Given the description of an element on the screen output the (x, y) to click on. 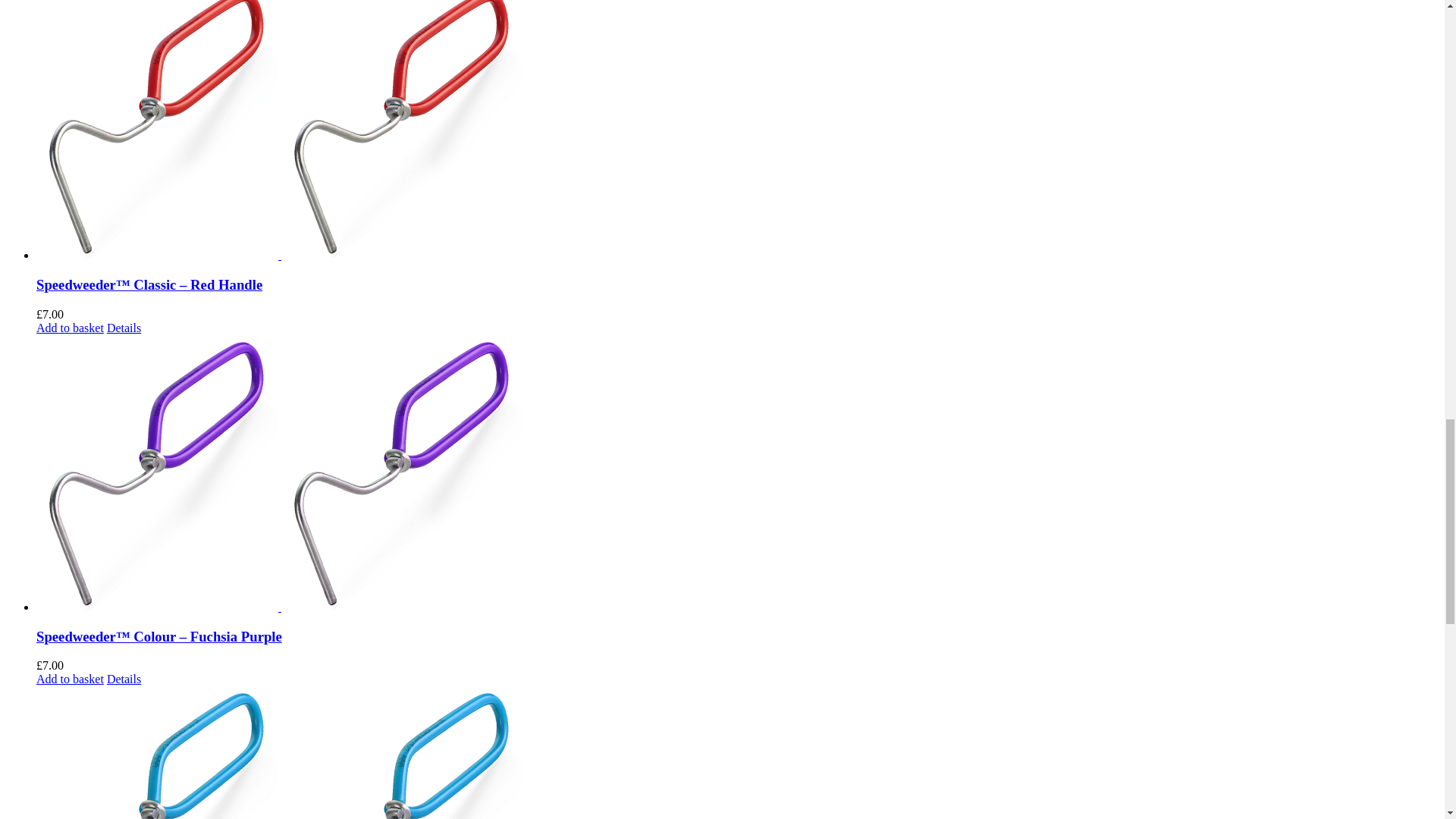
Add to basket (69, 678)
Details (123, 327)
Details (123, 678)
Add to basket (69, 327)
